Given the description of an element on the screen output the (x, y) to click on. 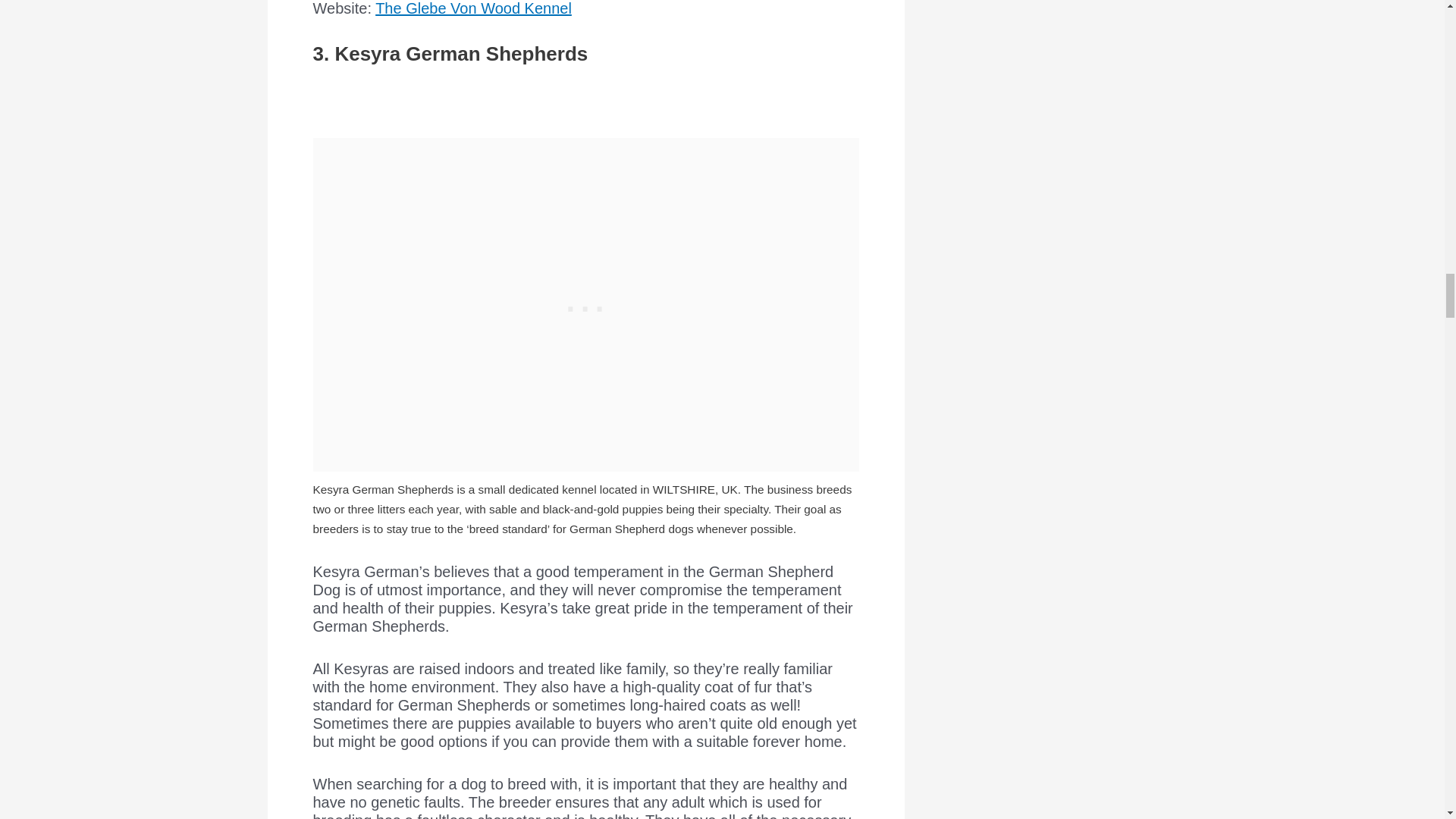
The Glebe Von Wood Kennel (473, 8)
